Given the description of an element on the screen output the (x, y) to click on. 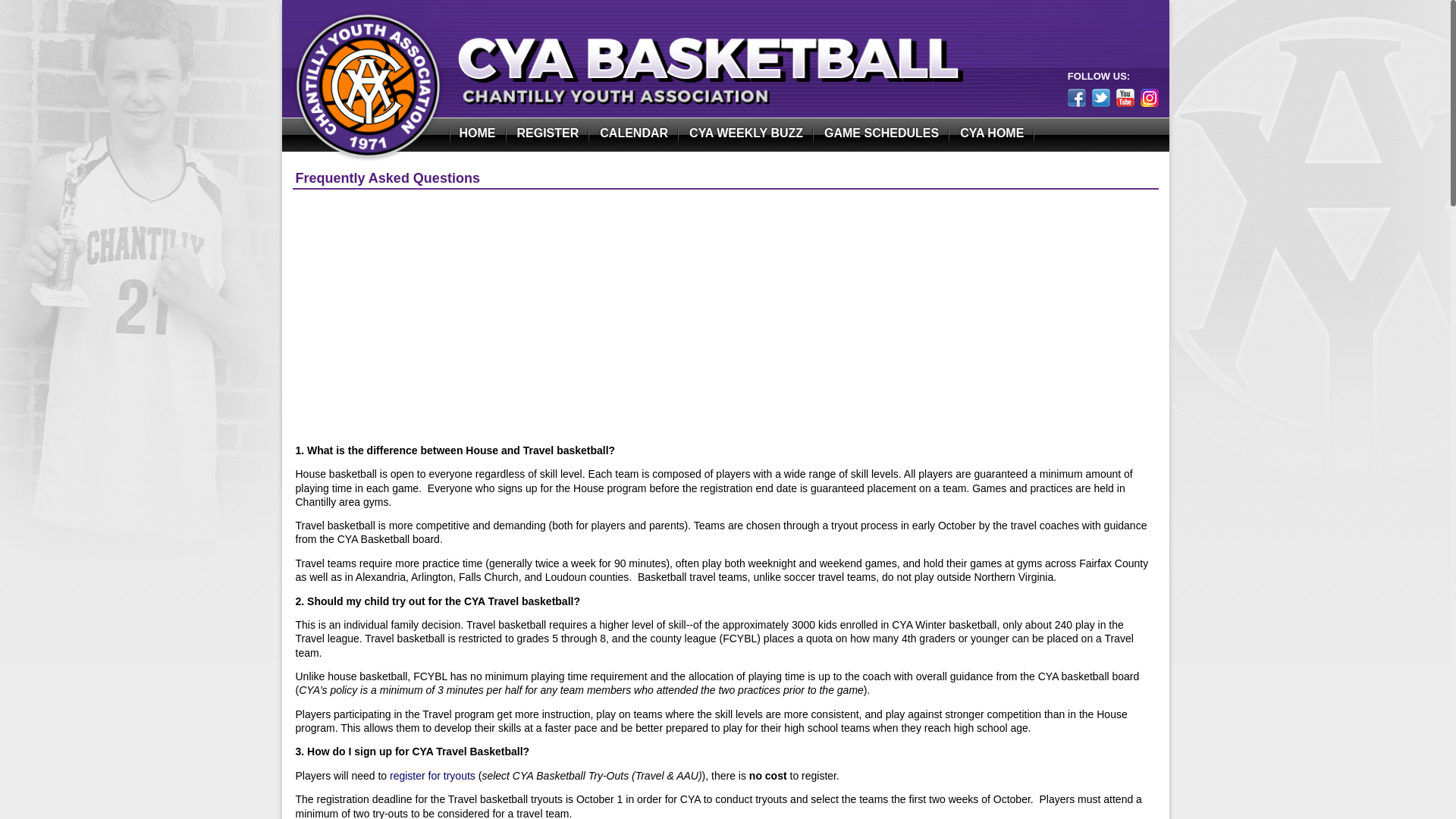
GAME SCHEDULES (881, 134)
CYA WEEKLY BUZZ (745, 134)
HOME (477, 134)
register for tryouts (433, 775)
CALENDAR (633, 134)
CYA HOME (991, 134)
Frequently Asked Questions (387, 177)
REGISTER (547, 134)
